Given the description of an element on the screen output the (x, y) to click on. 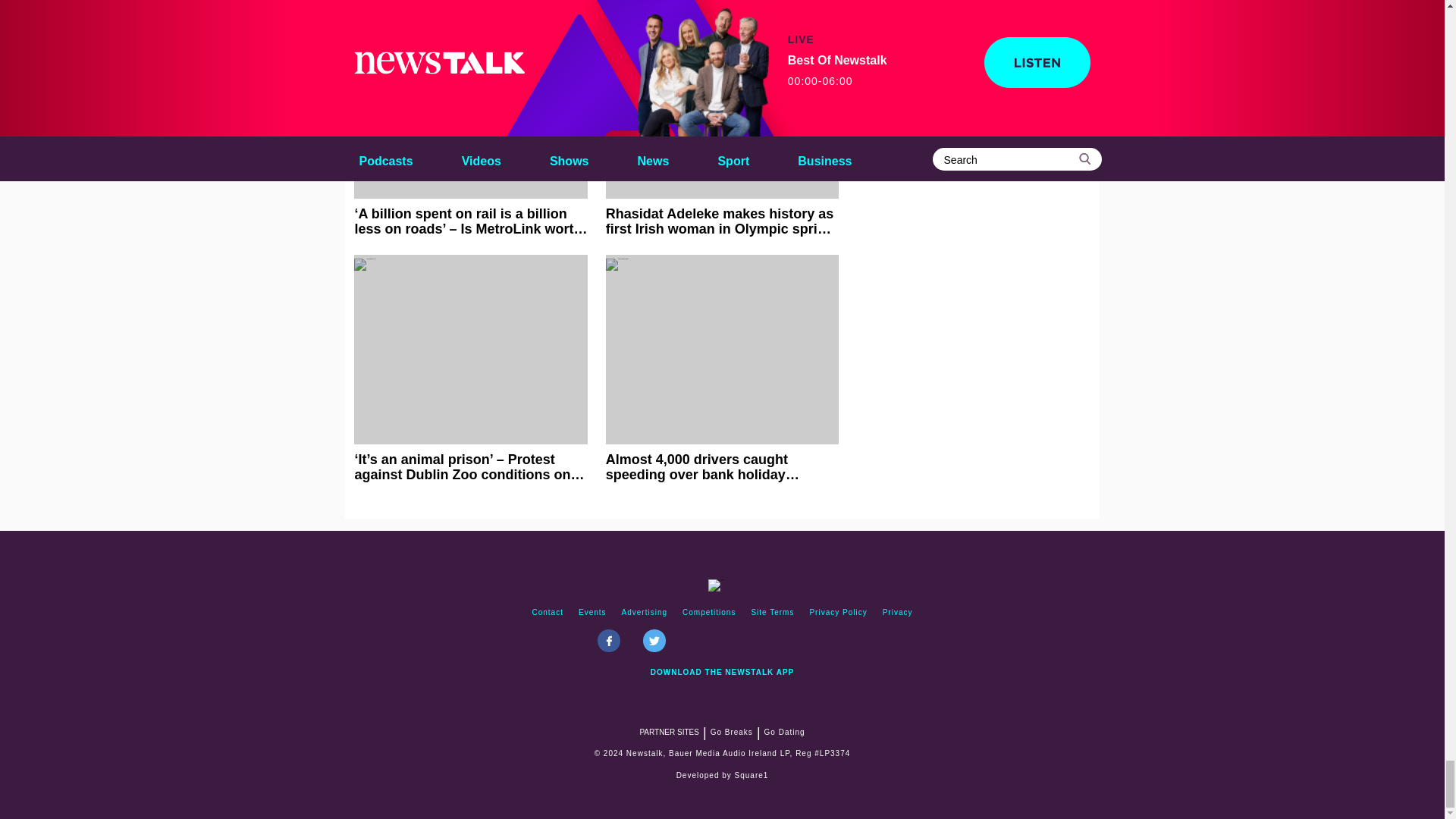
advertising (644, 612)
site terms (772, 612)
contact (547, 612)
events (592, 612)
Privacy Policy (838, 612)
Privacy (897, 612)
competitions (708, 612)
